Given the description of an element on the screen output the (x, y) to click on. 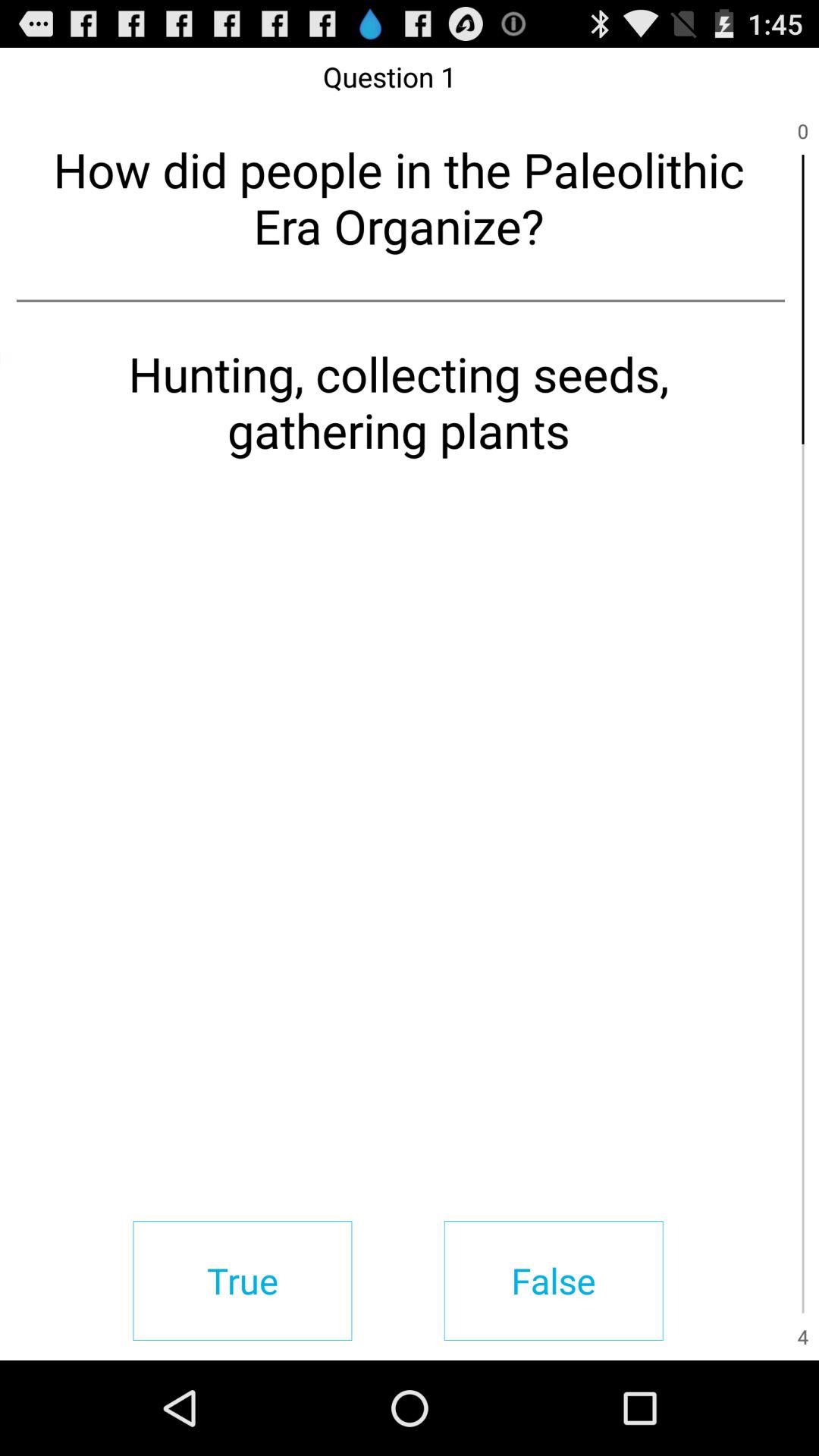
open the icon next to false (242, 1280)
